Given the description of an element on the screen output the (x, y) to click on. 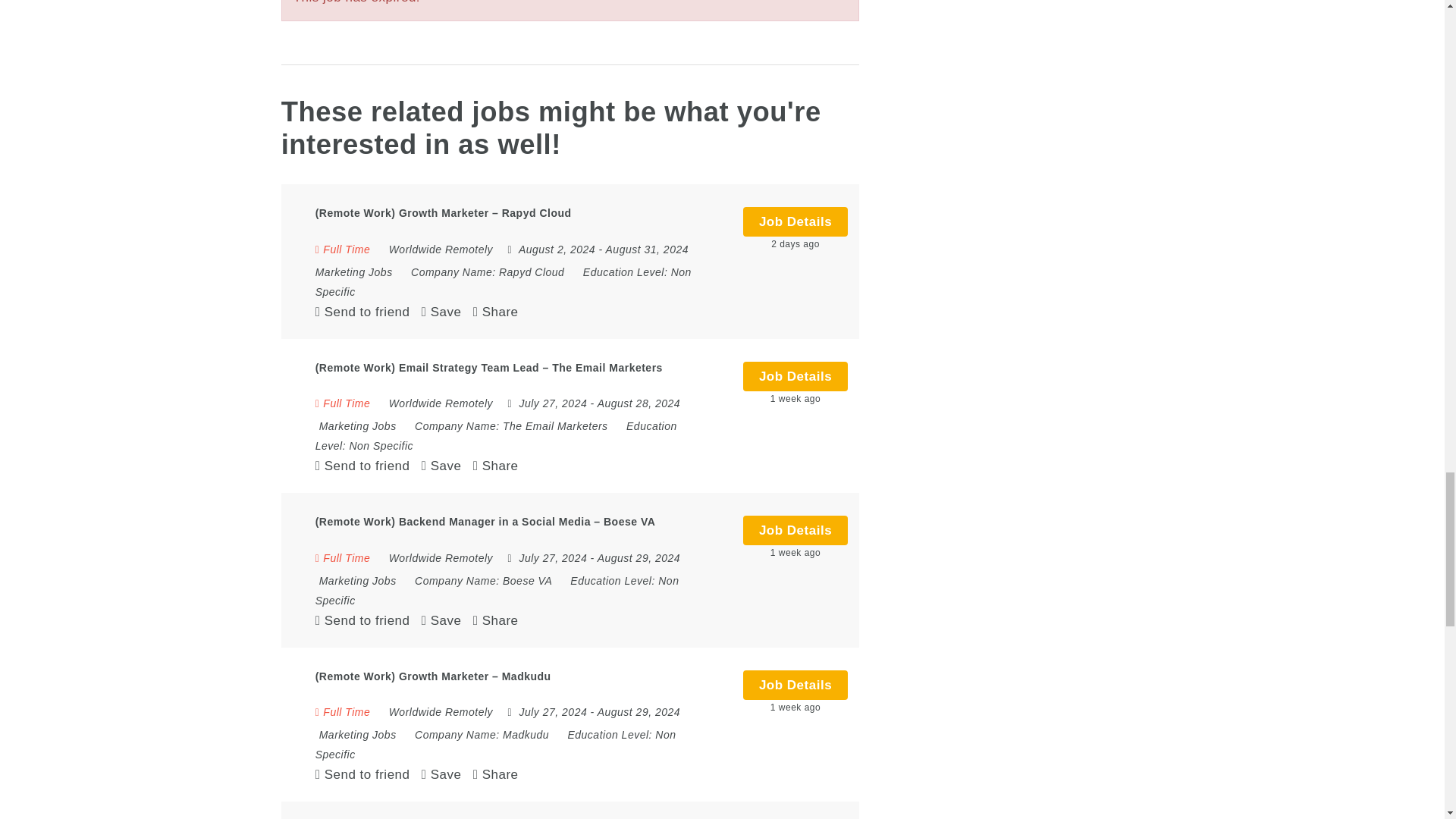
Marketing Jobs (357, 426)
Full Time (343, 403)
Worldwide Remotely (440, 249)
Job Details (794, 221)
Full Time (343, 249)
Marketing Jobs (354, 272)
Worldwide Remotely (440, 403)
